Given the description of an element on the screen output the (x, y) to click on. 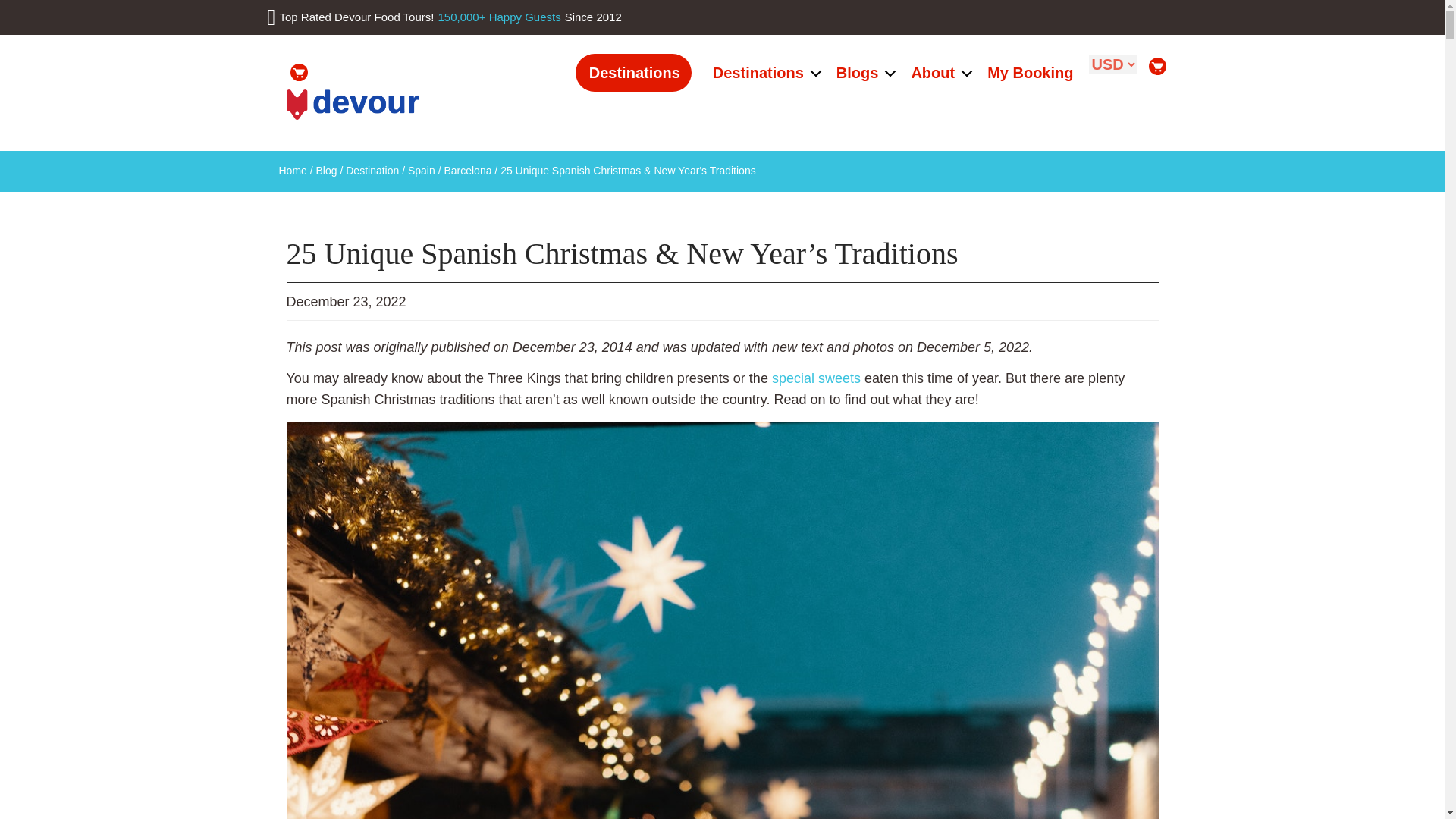
Destinations (633, 72)
Destinations (756, 72)
